Given the description of an element on the screen output the (x, y) to click on. 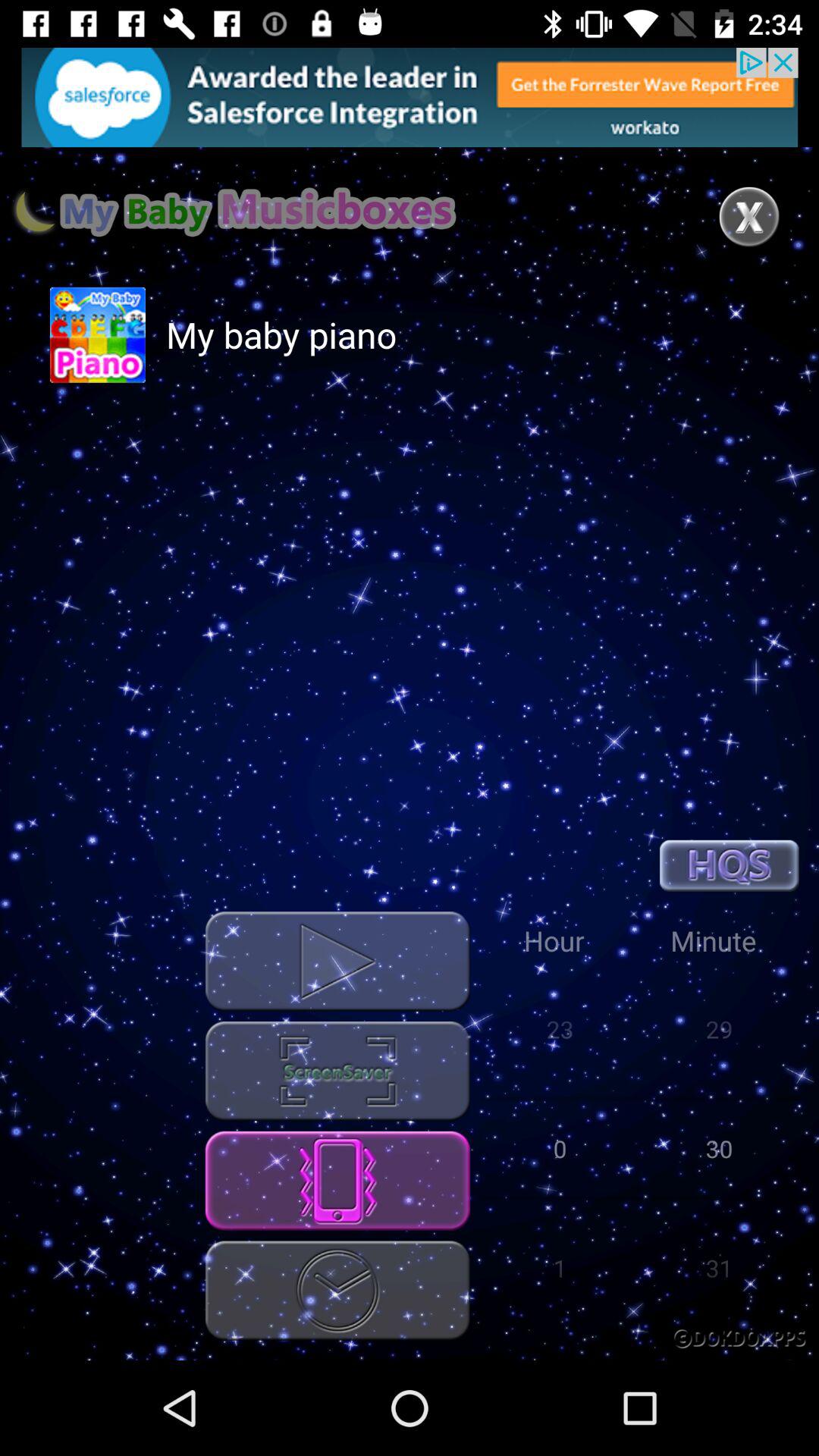
close (749, 216)
